Given the description of an element on the screen output the (x, y) to click on. 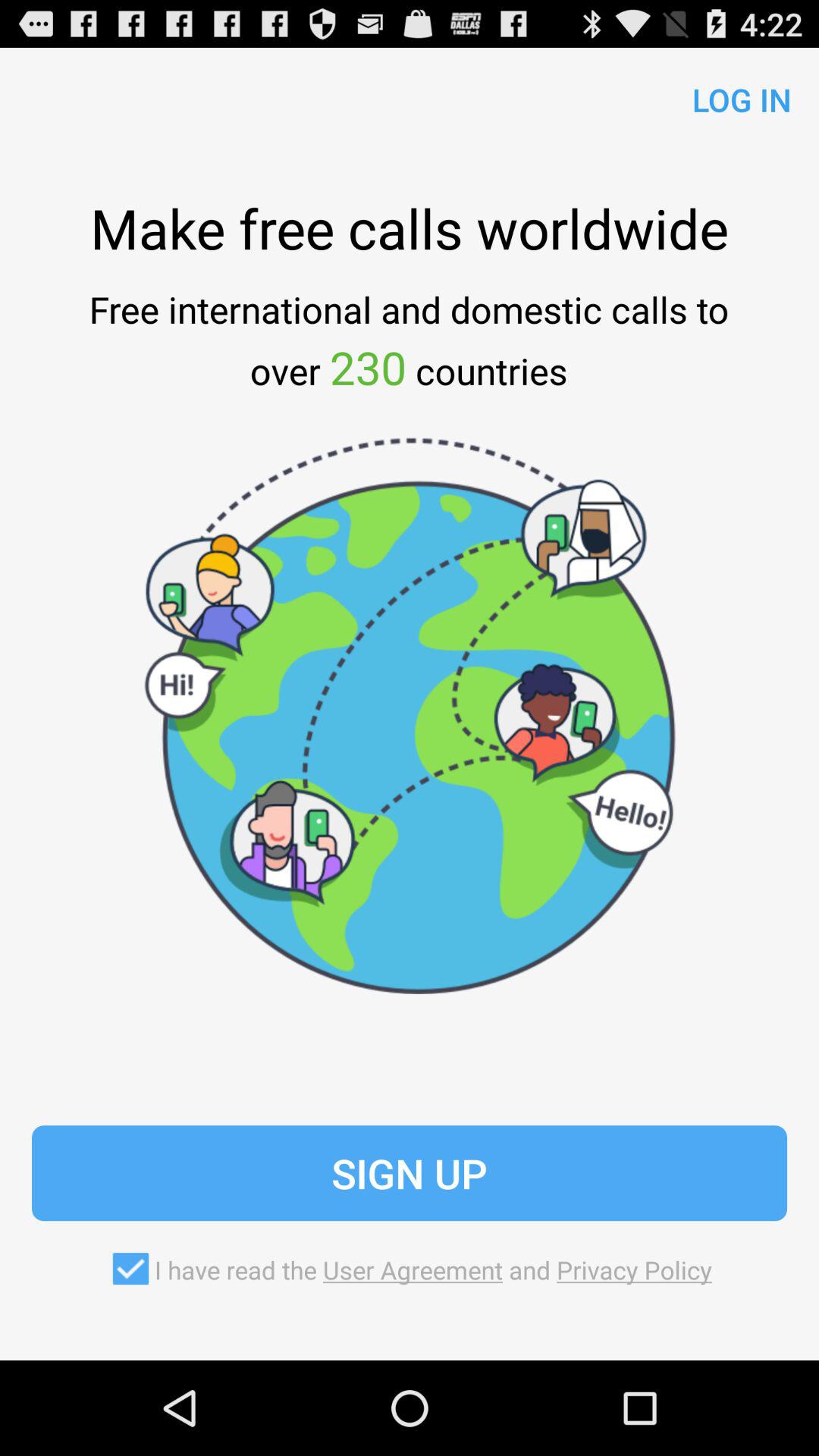
turn off the icon above i have read item (409, 1173)
